Given the description of an element on the screen output the (x, y) to click on. 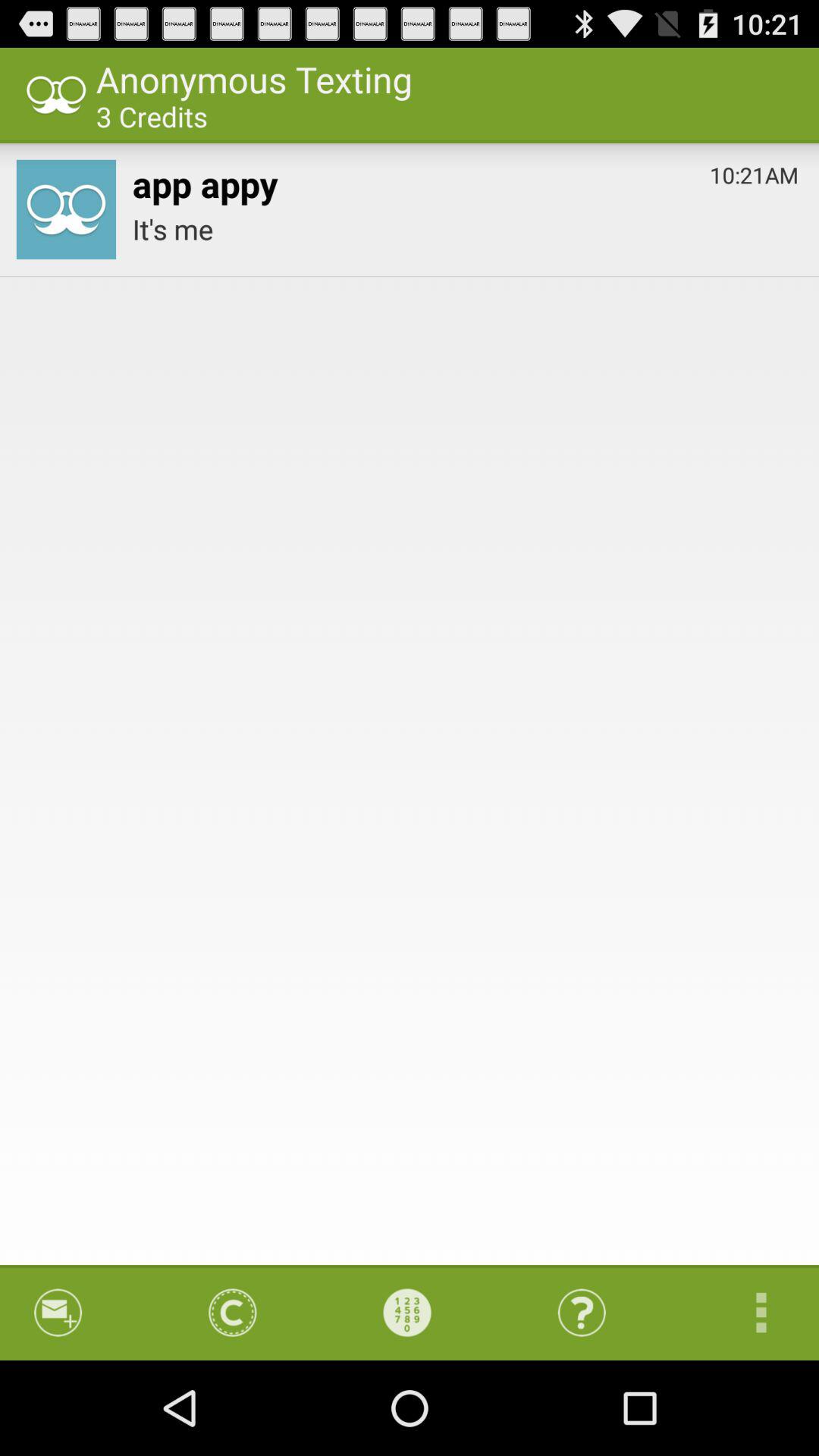
tap the app appy icon (205, 180)
